Given the description of an element on the screen output the (x, y) to click on. 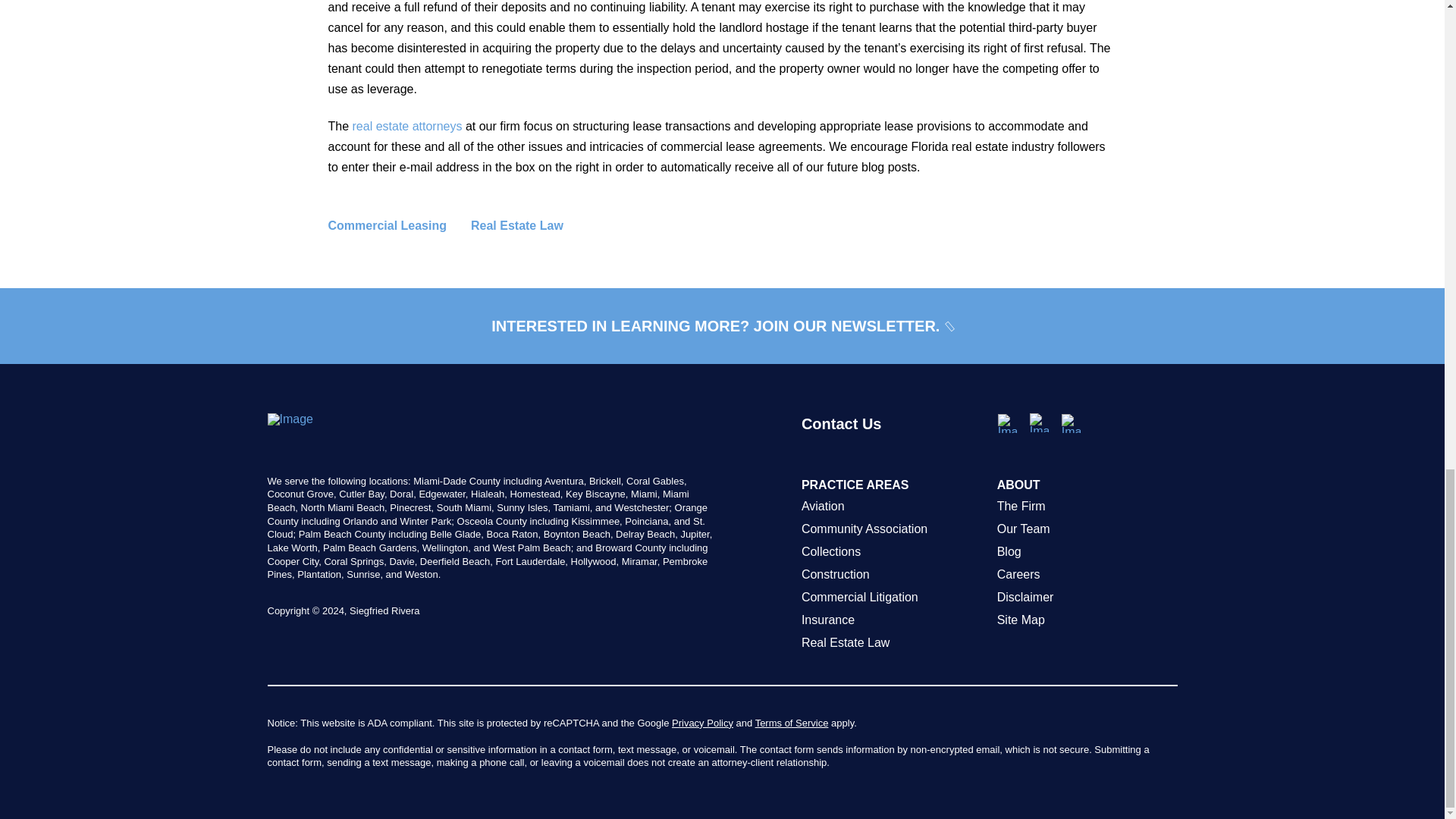
Contact Us (891, 444)
Real Estate Law (529, 225)
Aviation (891, 506)
real estate attorneys (407, 125)
Commercial Leasing (398, 225)
